Given the description of an element on the screen output the (x, y) to click on. 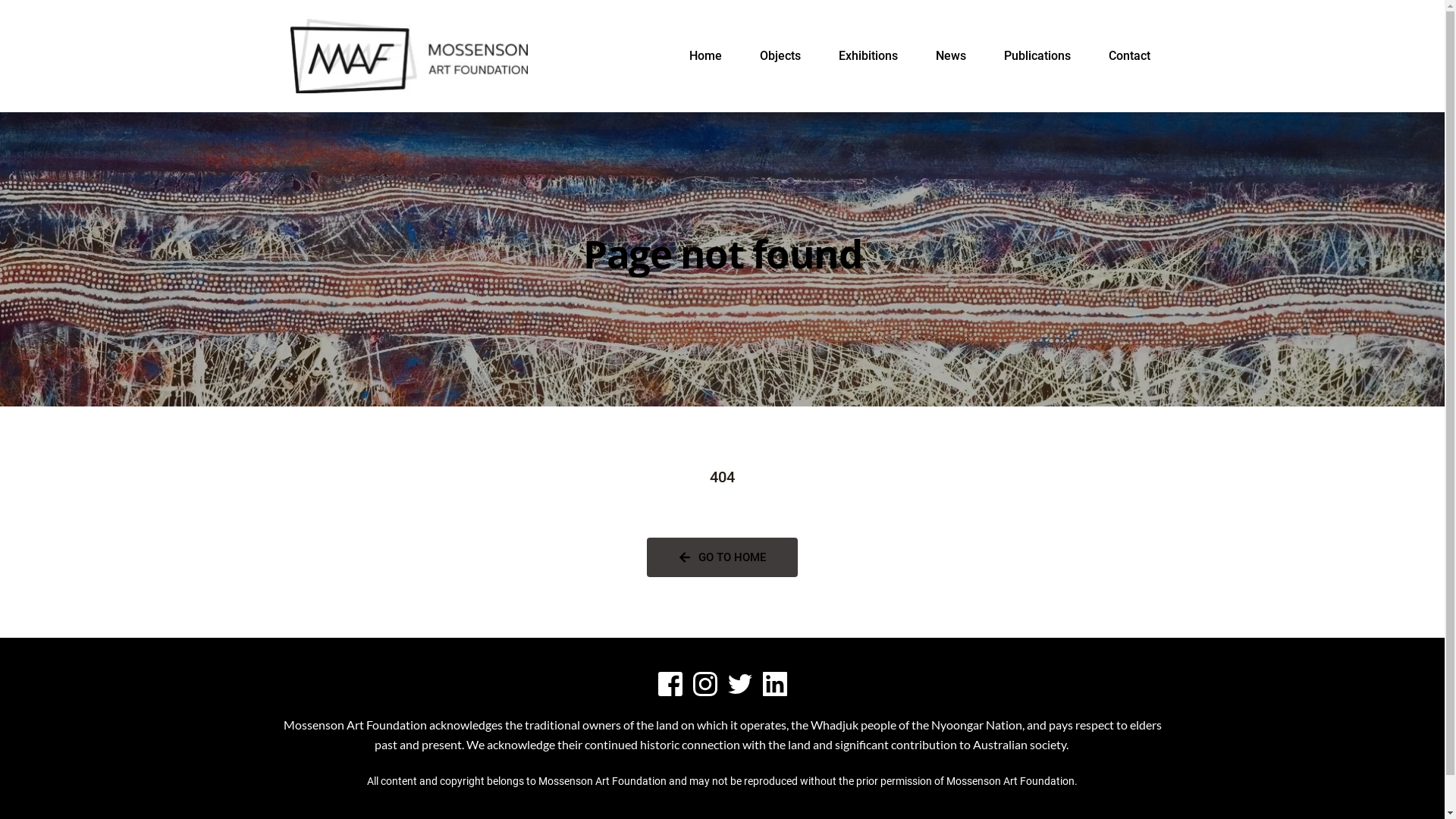
Objects Element type: text (780, 56)
Exhibitions Element type: text (867, 56)
Home Element type: text (705, 56)
News Element type: text (950, 56)
GO TO HOME Element type: text (721, 557)
Contact Element type: text (1129, 56)
Publications Element type: text (1037, 56)
